Given the description of an element on the screen output the (x, y) to click on. 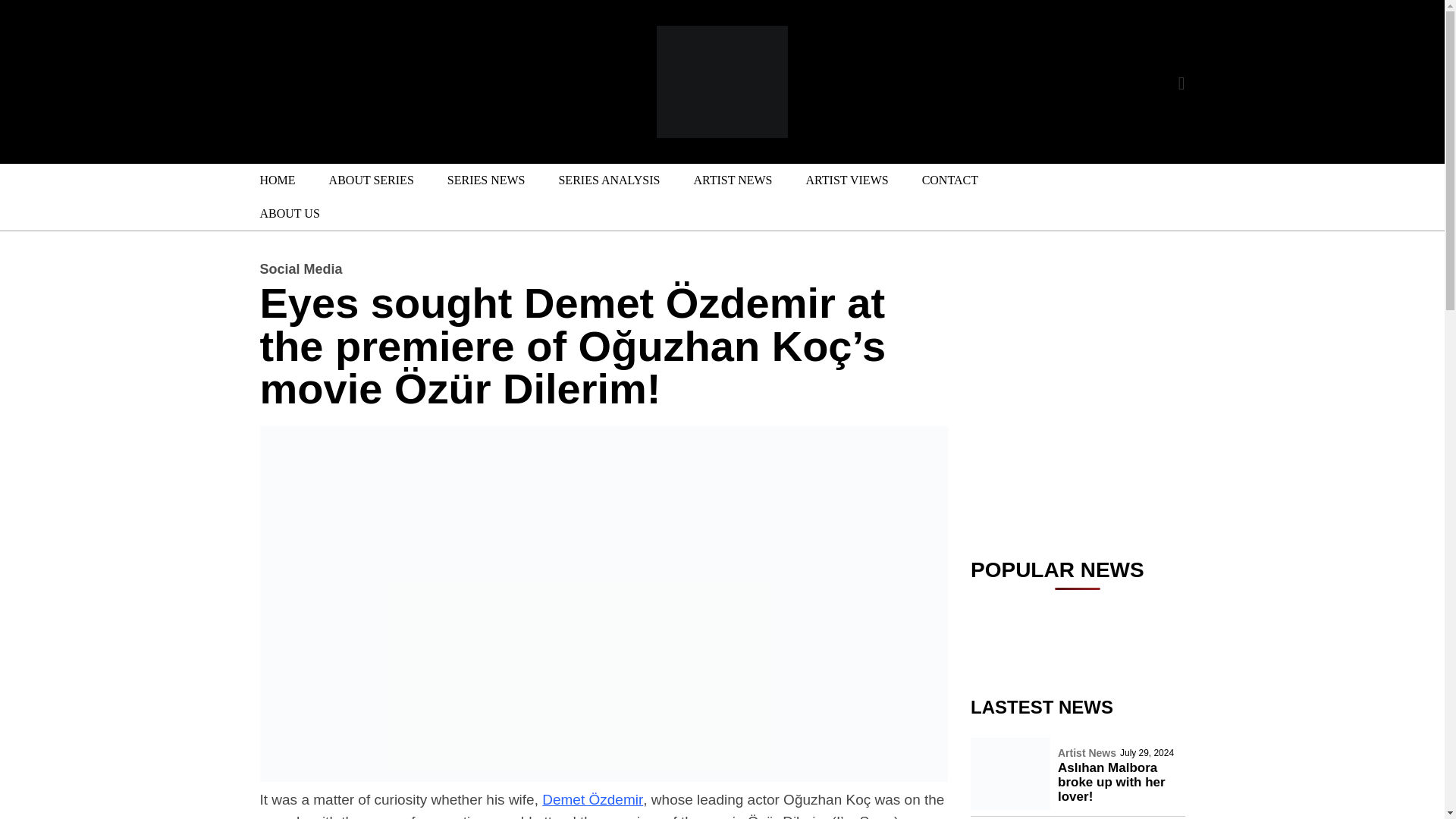
SERIES ANALYSIS (609, 180)
ABOUT SERIES (371, 180)
Artist News (1087, 752)
HOME (277, 180)
ARTIST VIEWS (847, 180)
ABOUT US (287, 213)
ARTIST NEWS (733, 180)
Social Media (300, 268)
CONTACT (949, 180)
SERIES NEWS (485, 180)
